Given the description of an element on the screen output the (x, y) to click on. 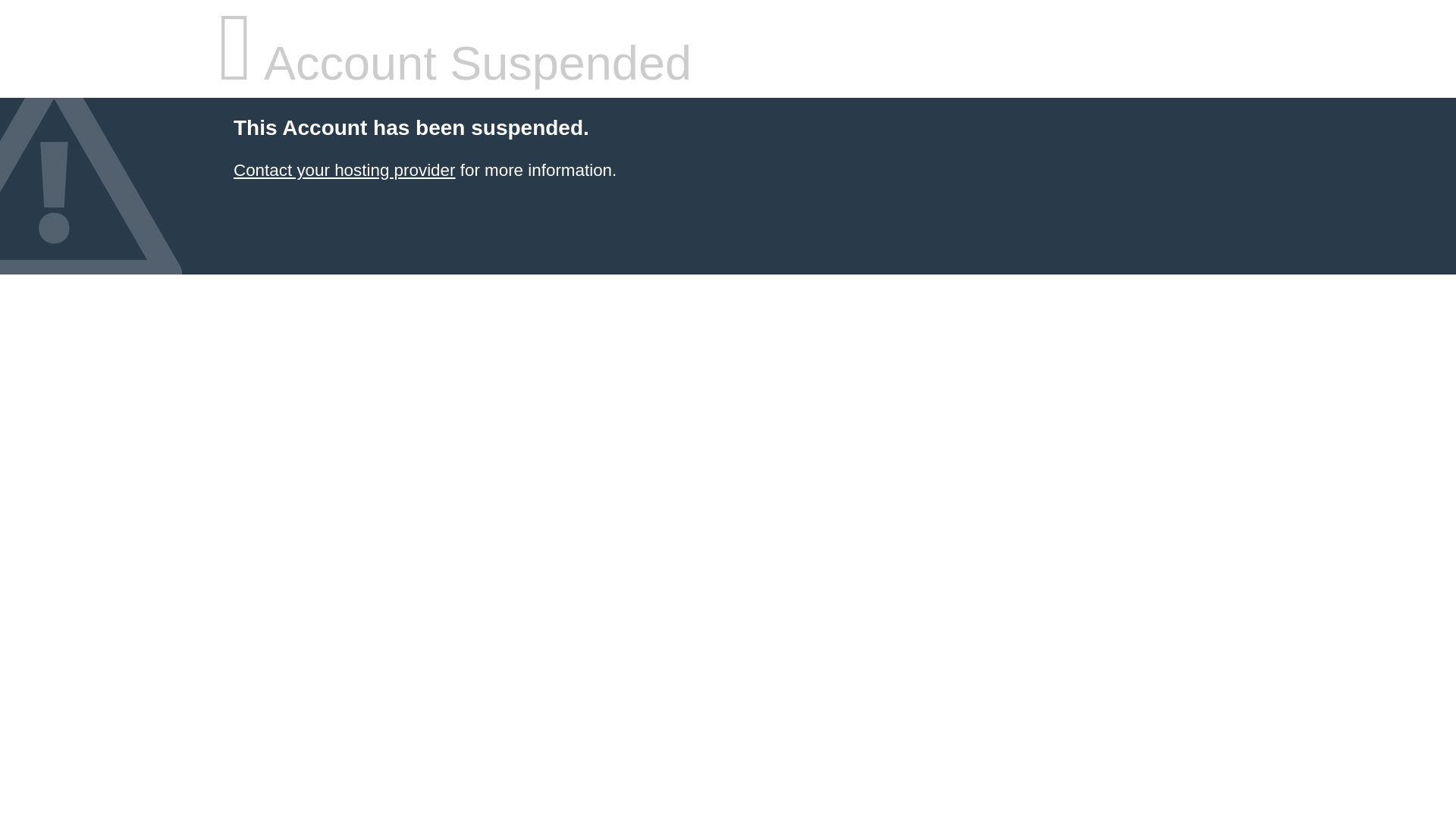
Contact your hosting provider (343, 169)
